Given the description of an element on the screen output the (x, y) to click on. 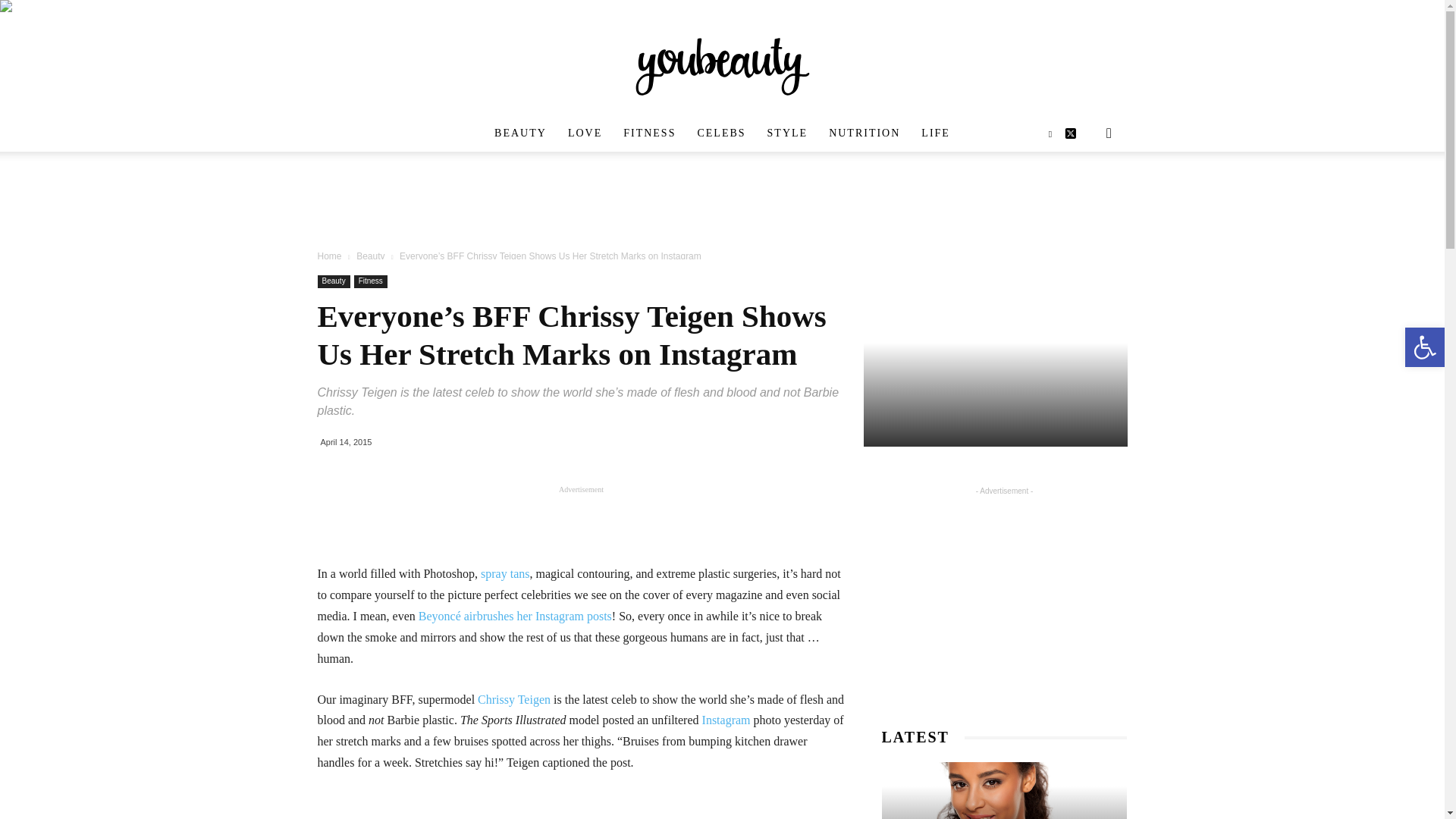
BEAUTY (520, 133)
LOVE (584, 133)
Accessibility Tools (1424, 346)
